Given the description of an element on the screen output the (x, y) to click on. 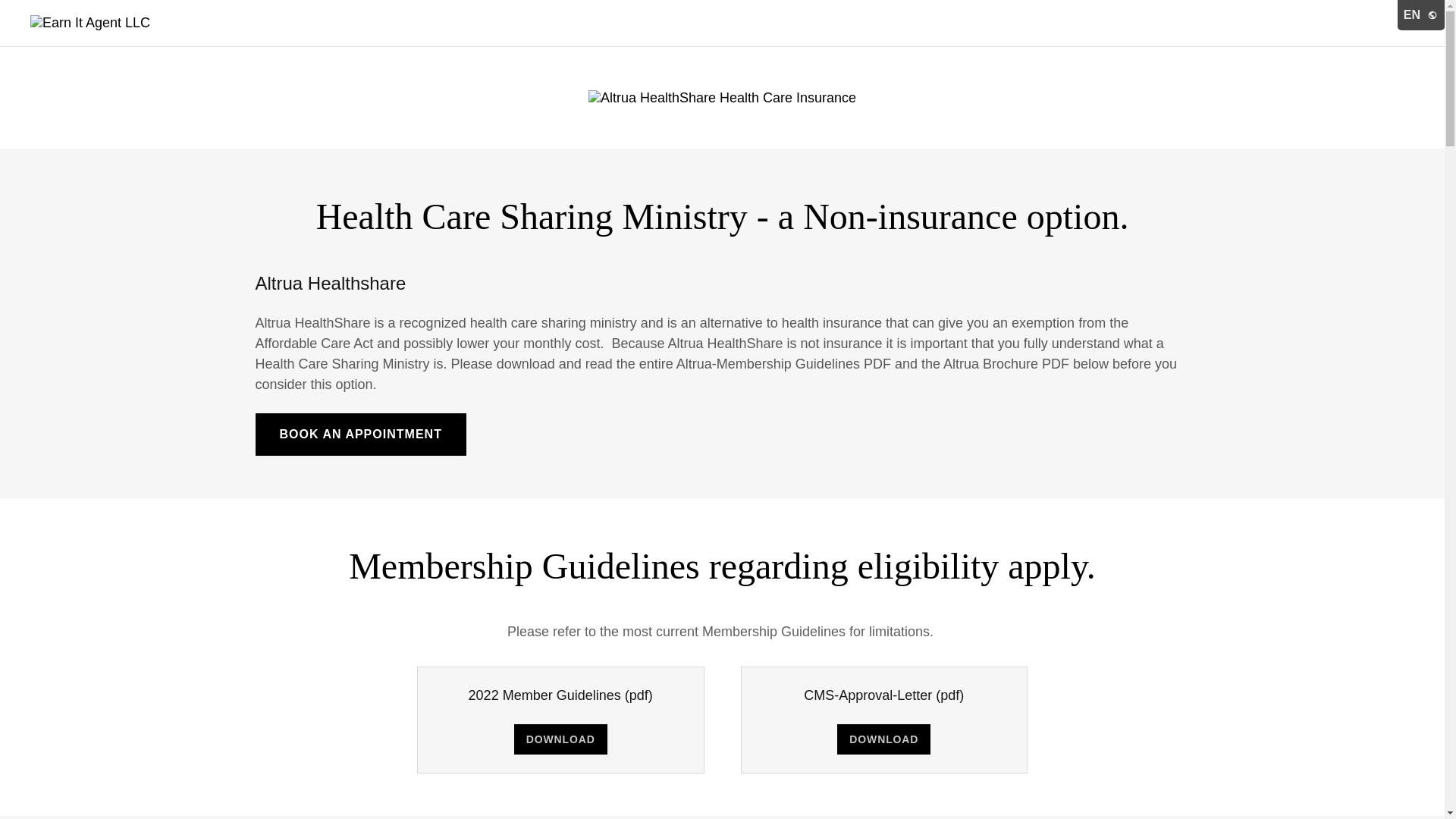
DOWNLOAD (883, 738)
Earn It Agent LLC (89, 22)
DOWNLOAD (560, 738)
BOOK AN APPOINTMENT (359, 434)
